Given the description of an element on the screen output the (x, y) to click on. 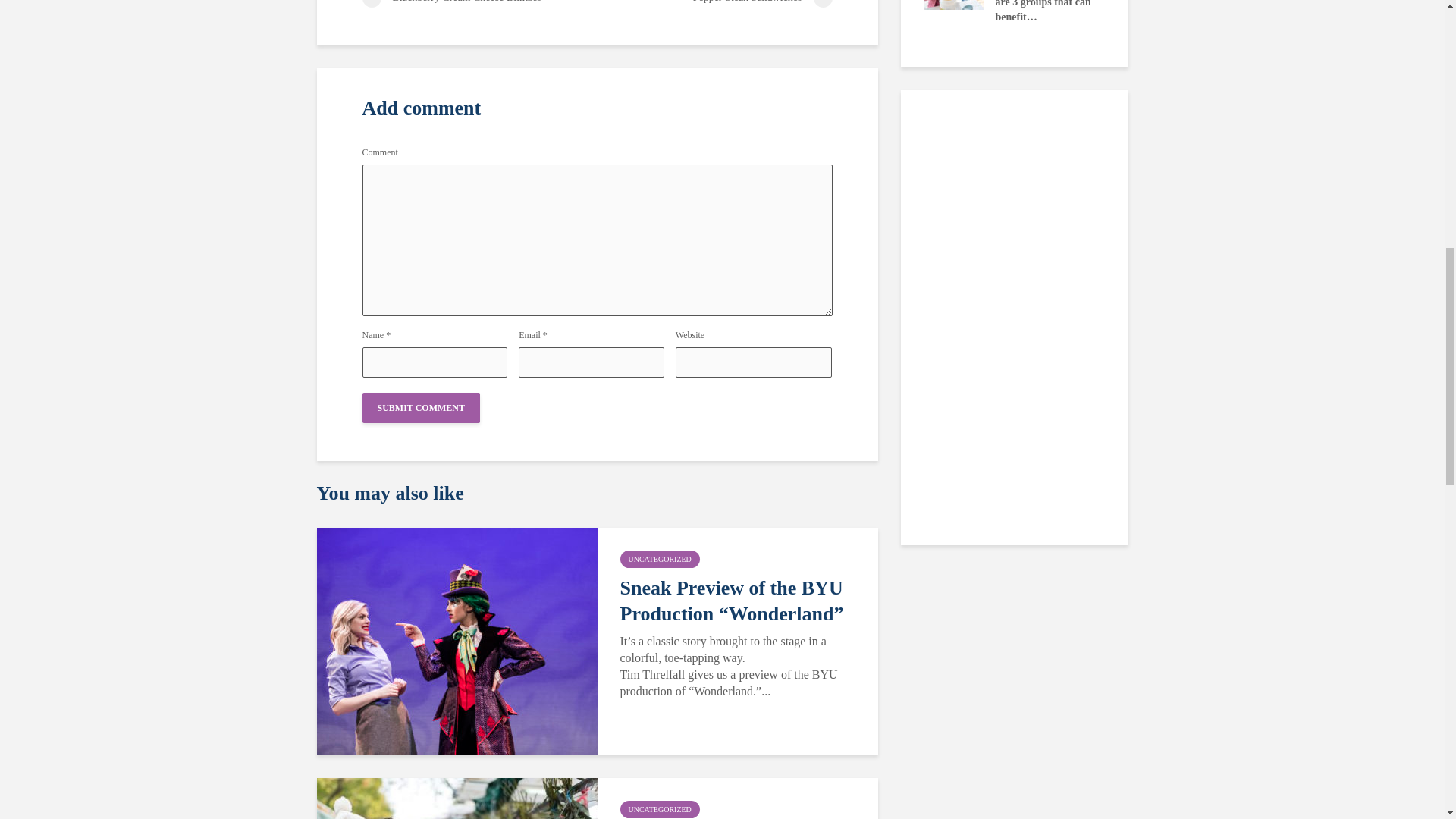
Submit Comment (421, 408)
UNCATEGORIZED (660, 559)
UNCATEGORIZED (660, 809)
Pepper Steak Sandwiches (714, 3)
Blackberry Cream Cheese Blintzes (479, 3)
Submit Comment (421, 408)
